Given the description of an element on the screen output the (x, y) to click on. 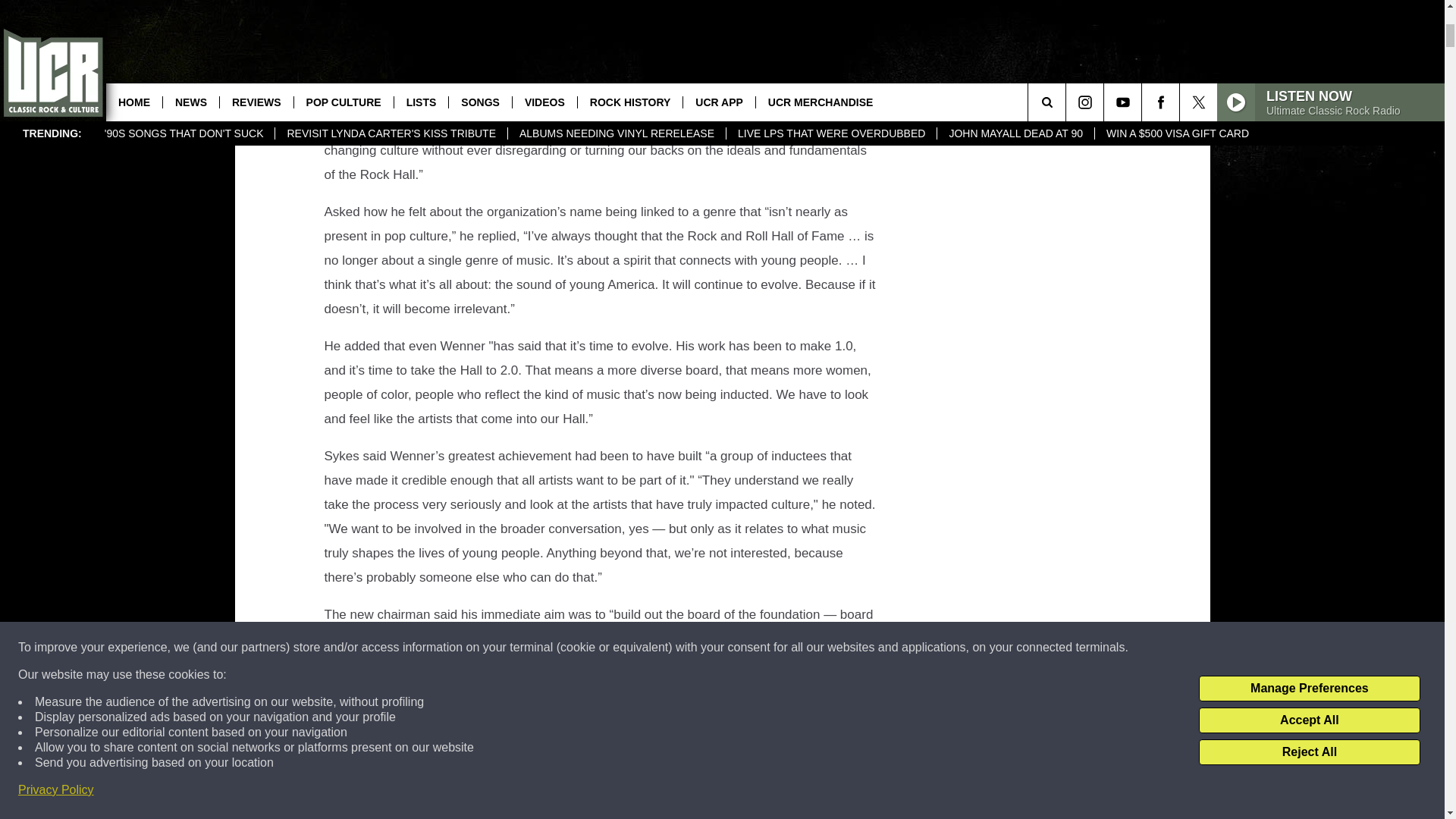
Rolling Stone (828, 52)
